Given the description of an element on the screen output the (x, y) to click on. 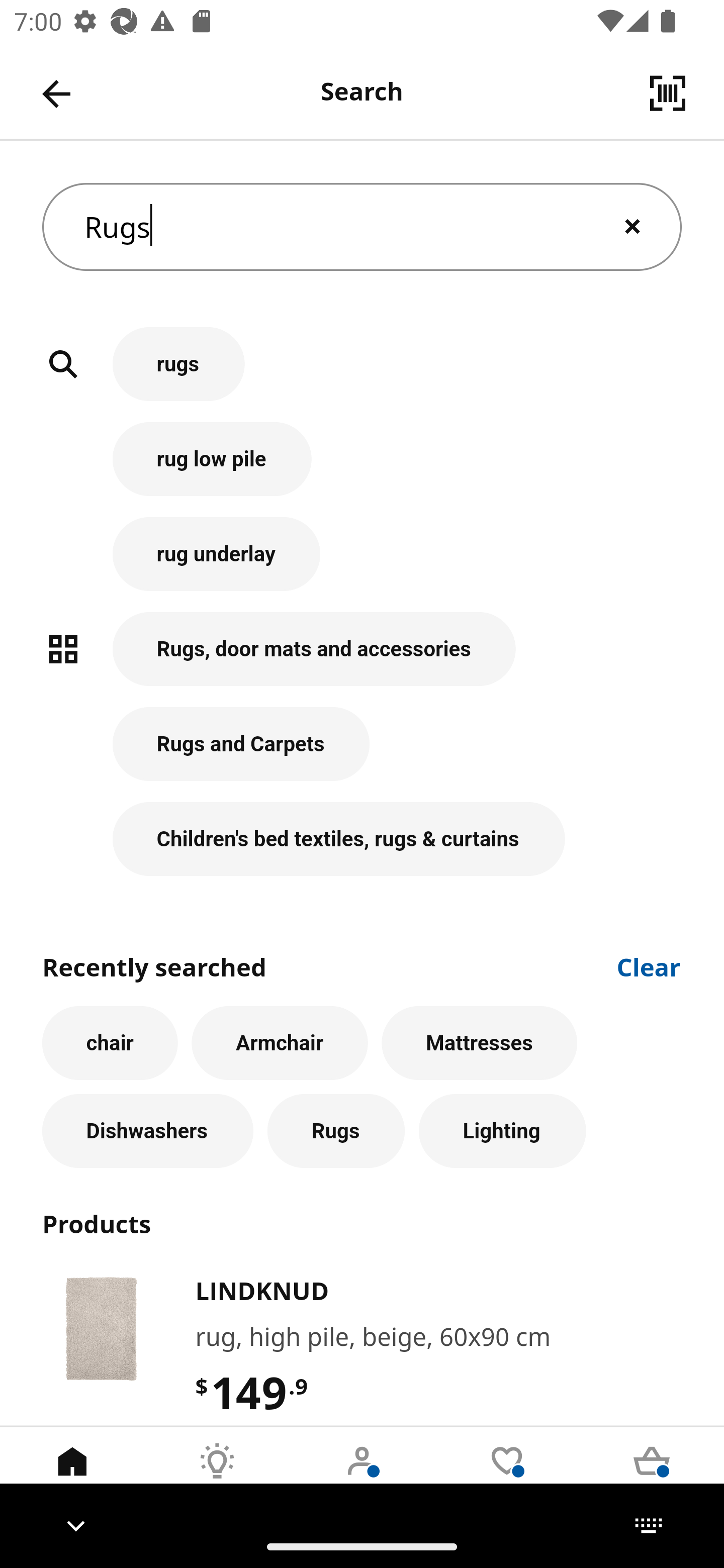
Rugs (361, 227)
rugs (361, 374)
rug low pile (361, 469)
rug underlay (361, 564)
Rugs, door mats and accessories (361, 659)
Rugs and Carpets (361, 754)
Children's bed textiles, rugs & curtains (361, 839)
Clear (649, 965)
chair (109, 1043)
Armchair (279, 1043)
Mattresses (479, 1043)
Dishwashers (147, 1131)
Rugs (335, 1131)
Lighting (502, 1131)
Home
Tab 1 of 5 (72, 1476)
Inspirations
Tab 2 of 5 (216, 1476)
User
Tab 3 of 5 (361, 1476)
Wishlist
Tab 4 of 5 (506, 1476)
Cart
Tab 5 of 5 (651, 1476)
